Given the description of an element on the screen output the (x, y) to click on. 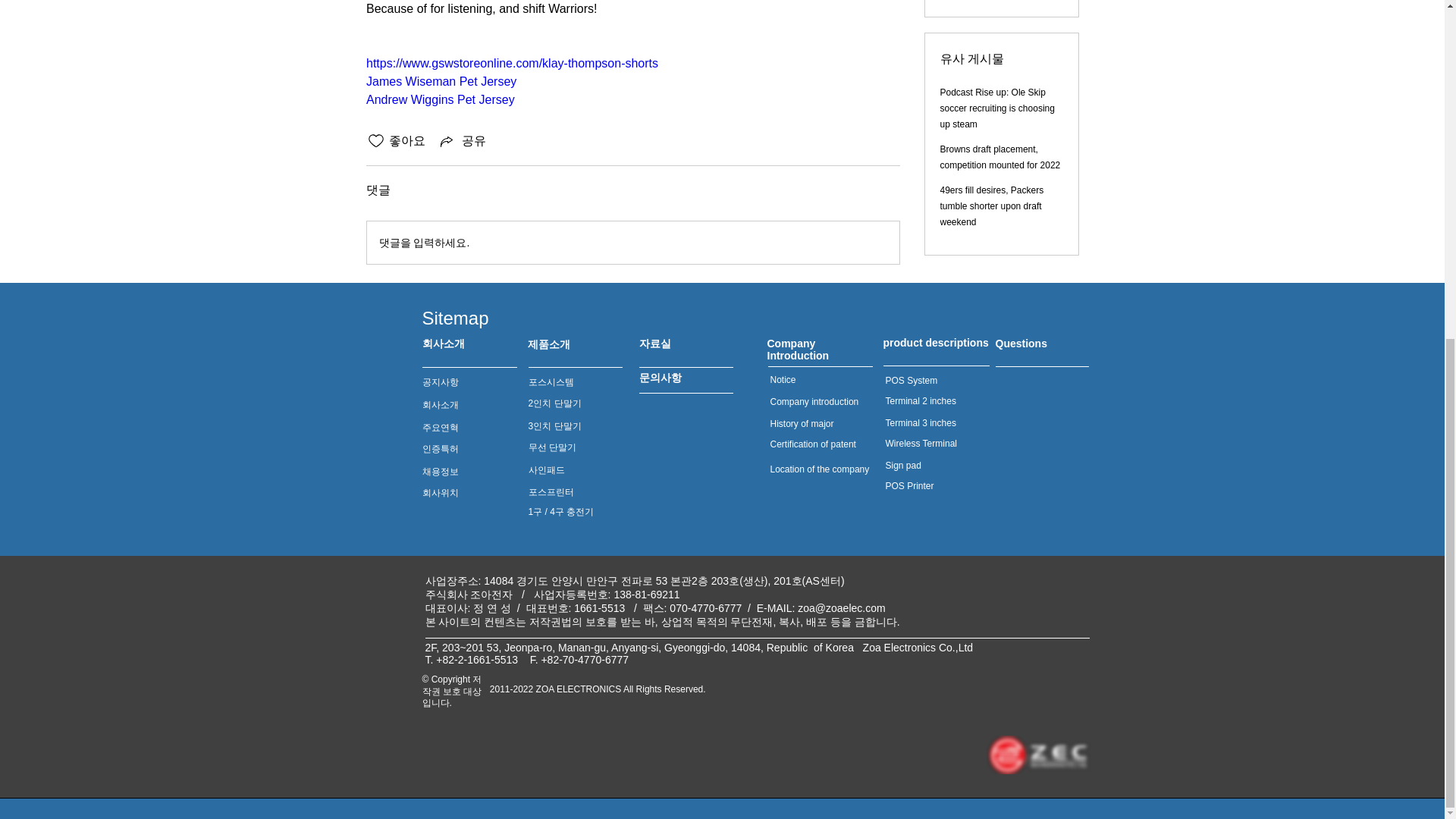
Andrew Wiggins Pet Jersey (439, 99)
Company Introduction (798, 349)
James Wiseman Pet Jersey (440, 81)
Company introduction (814, 401)
History of major (802, 423)
Notice (783, 379)
Certification of patent (813, 443)
